Given the description of an element on the screen output the (x, y) to click on. 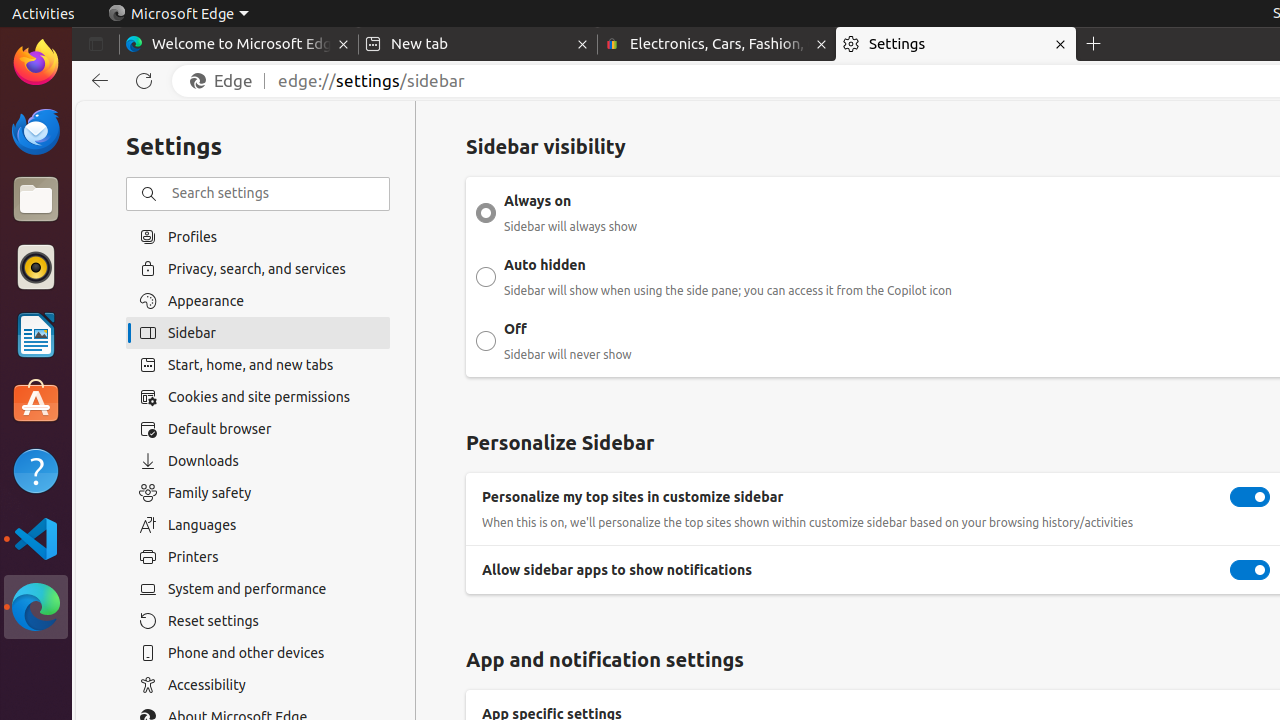
Reset settings Element type: tree-item (258, 621)
Family safety Element type: tree-item (258, 493)
Ubuntu Software Element type: push-button (36, 402)
Off Sidebar will never show Element type: radio-button (486, 341)
Start, home, and new tabs Element type: tree-item (258, 365)
